Given the description of an element on the screen output the (x, y) to click on. 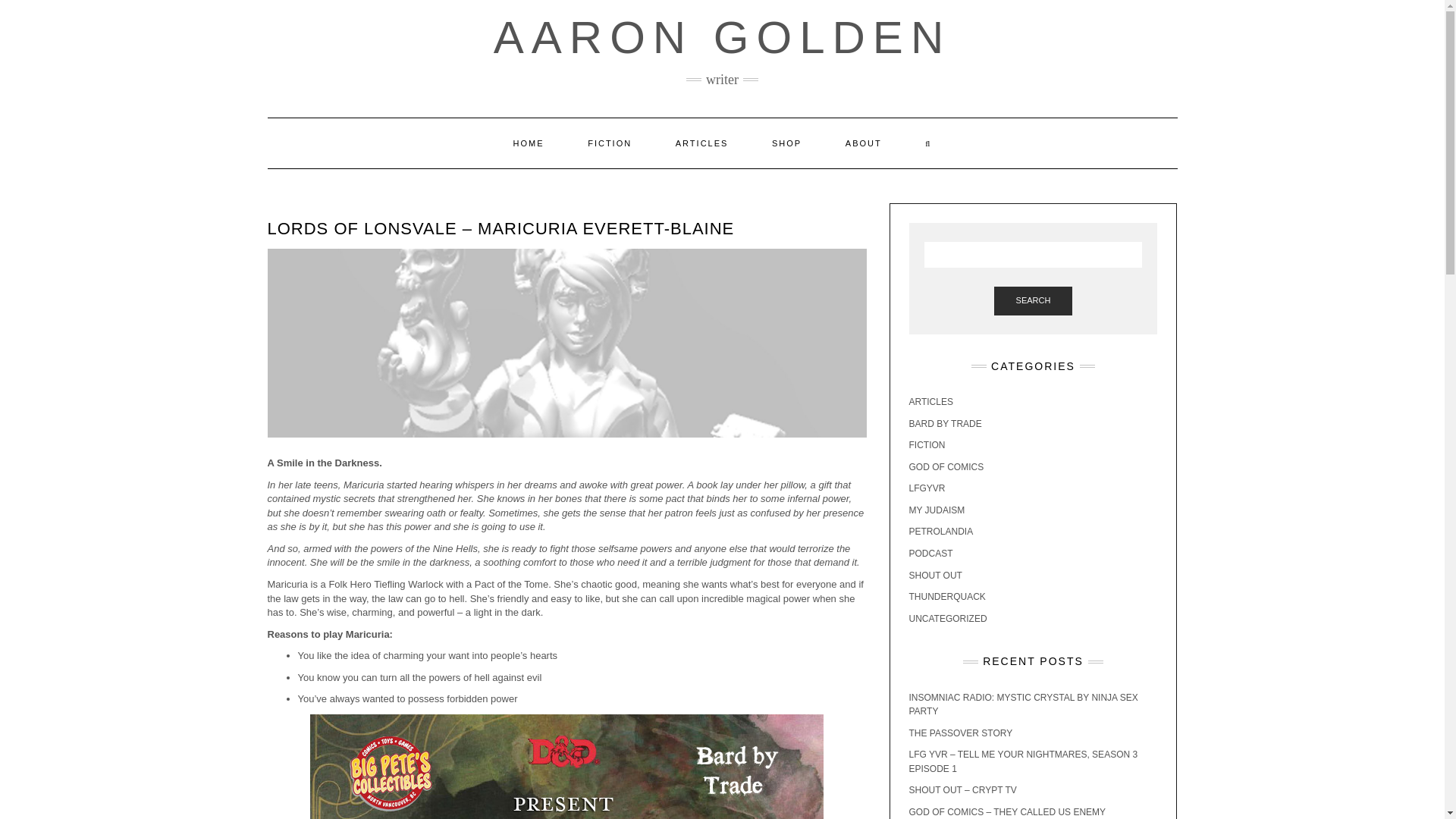
SHOUT OUT (934, 575)
SHOP (786, 142)
ARTICLES (930, 401)
ABOUT (863, 142)
BARD BY TRADE (944, 423)
INSOMNIAC RADIO: MYSTIC CRYSTAL BY NINJA SEX PARTY (1022, 704)
UNCATEGORIZED (947, 618)
MY JUDAISM (935, 510)
ARTICLES (702, 142)
AARON GOLDEN (721, 37)
PETROLANDIA (940, 531)
SEARCH (1033, 300)
LFGYVR (926, 488)
HOME (528, 142)
